Given the description of an element on the screen output the (x, y) to click on. 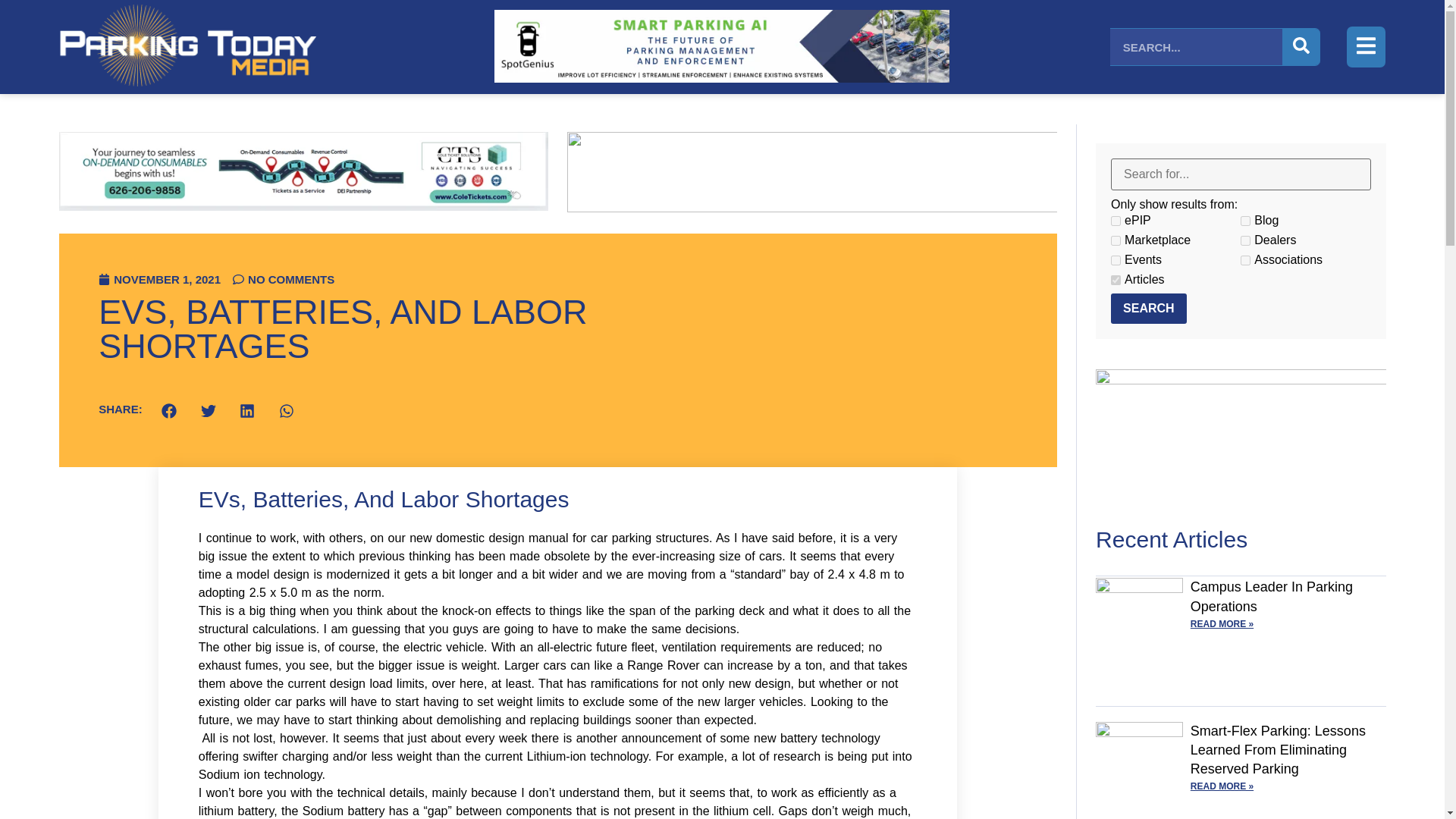
Search (1148, 308)
Events (1115, 260)
NO COMMENTS (283, 279)
ePIP (1115, 221)
Blog (1245, 221)
Campus Leader In Parking Operations (1271, 596)
Marketplace (1115, 240)
Articles (1115, 280)
Associations (1245, 260)
